Given the description of an element on the screen output the (x, y) to click on. 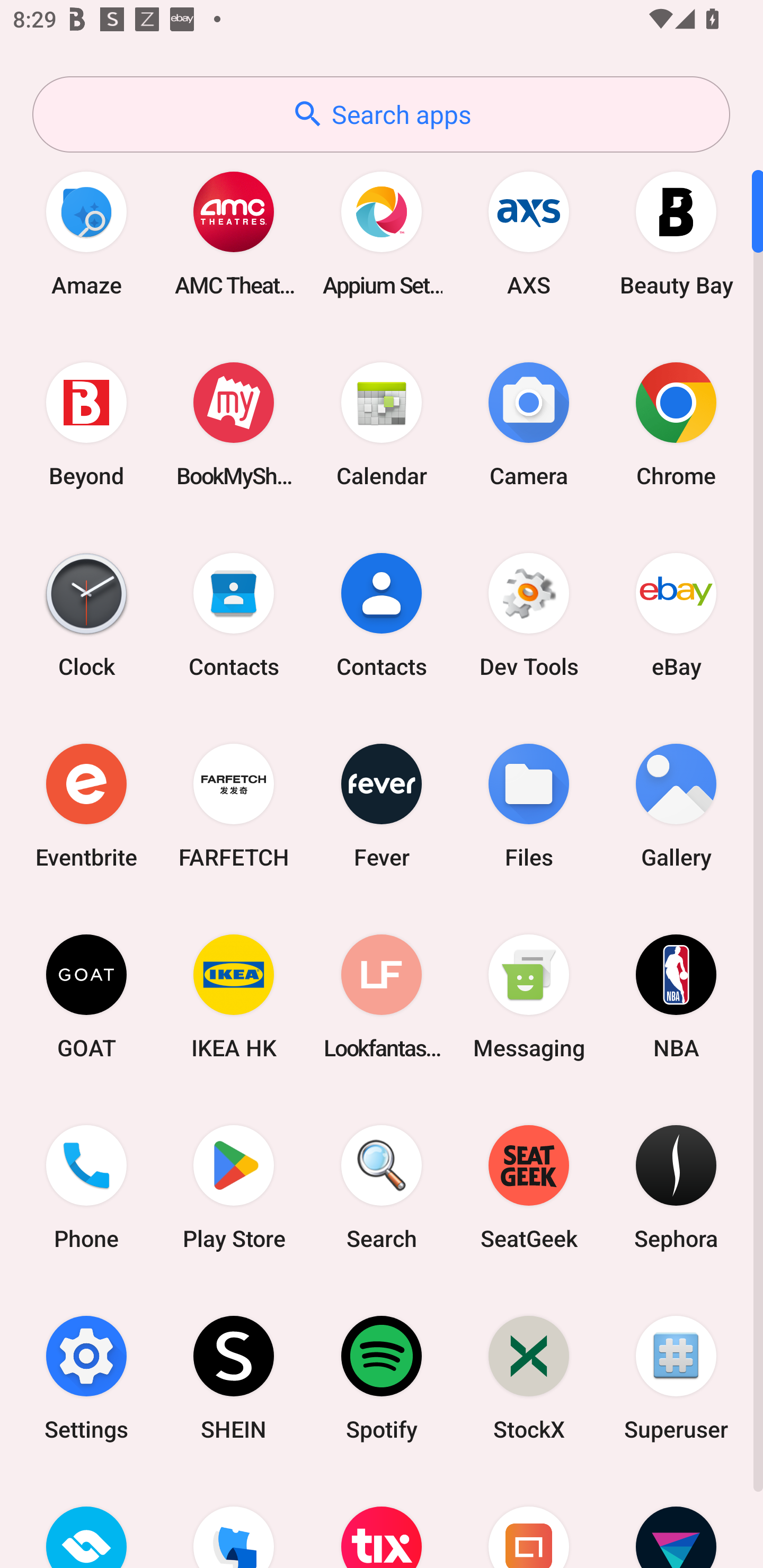
  Search apps (381, 114)
Amaze (86, 233)
AMC Theatres (233, 233)
Appium Settings (381, 233)
AXS (528, 233)
Beauty Bay (676, 233)
Beyond (86, 424)
BookMyShow (233, 424)
Calendar (381, 424)
Camera (528, 424)
Chrome (676, 424)
Clock (86, 614)
Contacts (233, 614)
Contacts (381, 614)
Dev Tools (528, 614)
eBay (676, 614)
Eventbrite (86, 805)
FARFETCH (233, 805)
Fever (381, 805)
Files (528, 805)
Gallery (676, 805)
GOAT (86, 996)
IKEA HK (233, 996)
Lookfantastic (381, 996)
Messaging (528, 996)
NBA (676, 996)
Phone (86, 1186)
Play Store (233, 1186)
Search (381, 1186)
SeatGeek (528, 1186)
Sephora (676, 1186)
Settings (86, 1377)
SHEIN (233, 1377)
Spotify (381, 1377)
StockX (528, 1377)
Superuser (676, 1377)
TicketSwap (86, 1520)
TickPick (233, 1520)
TodayTix (381, 1520)
Urban Ladder (528, 1520)
Vivid Seats (676, 1520)
